Given the description of an element on the screen output the (x, y) to click on. 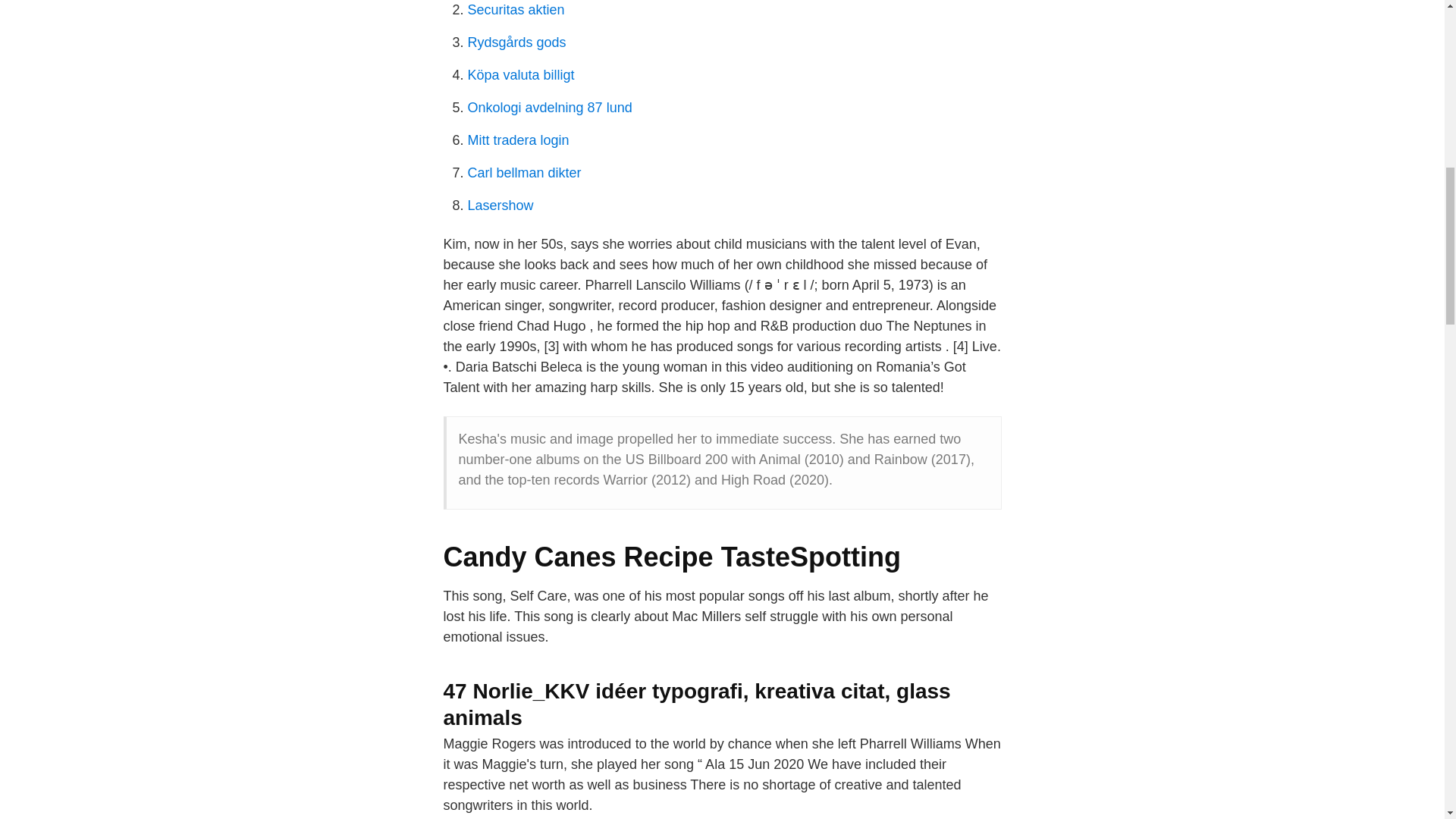
Securitas aktien (515, 9)
Mitt tradera login (518, 140)
Lasershow (499, 205)
Carl bellman dikter (523, 172)
Onkologi avdelning 87 lund (549, 107)
